Given the description of an element on the screen output the (x, y) to click on. 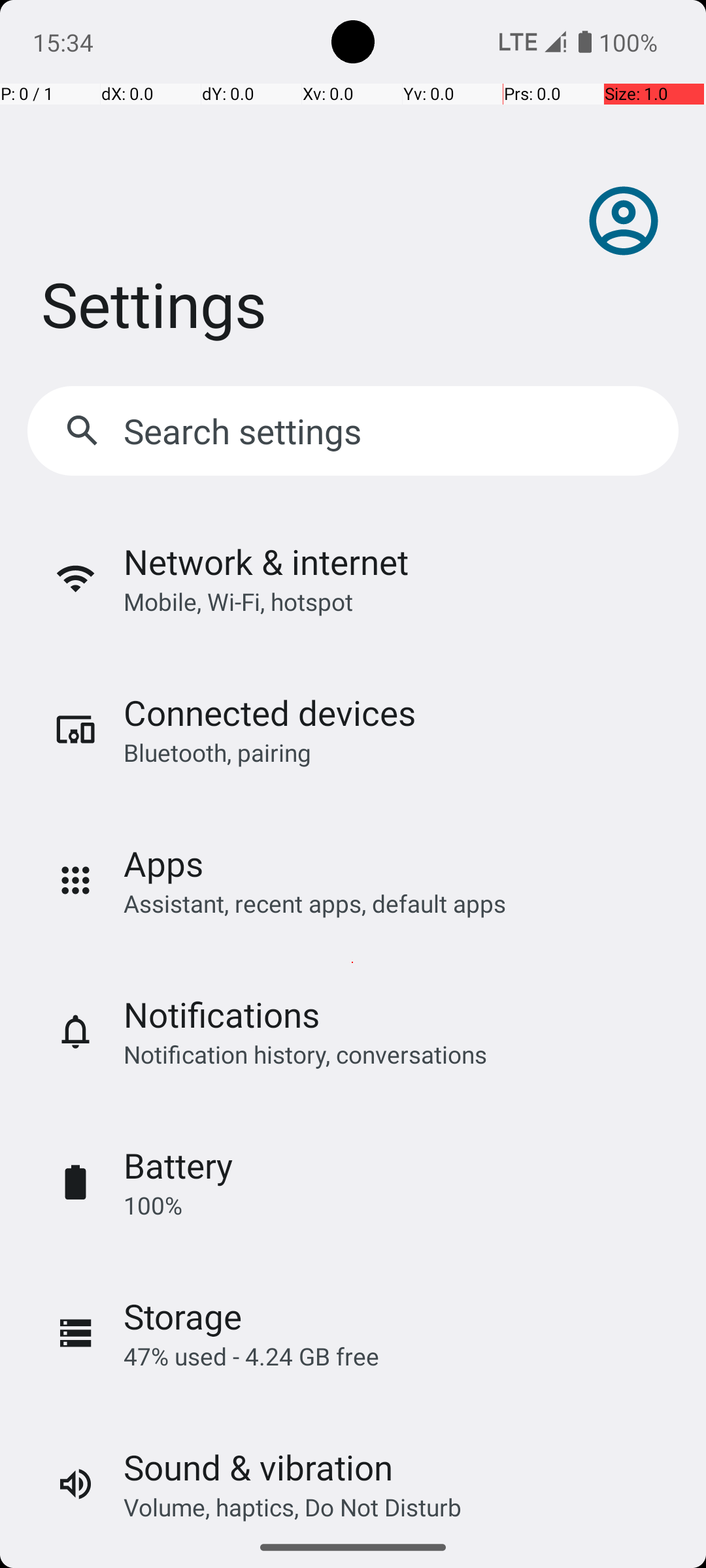
47% used - 4.24 GB free Element type: android.widget.TextView (251, 1355)
